Given the description of an element on the screen output the (x, y) to click on. 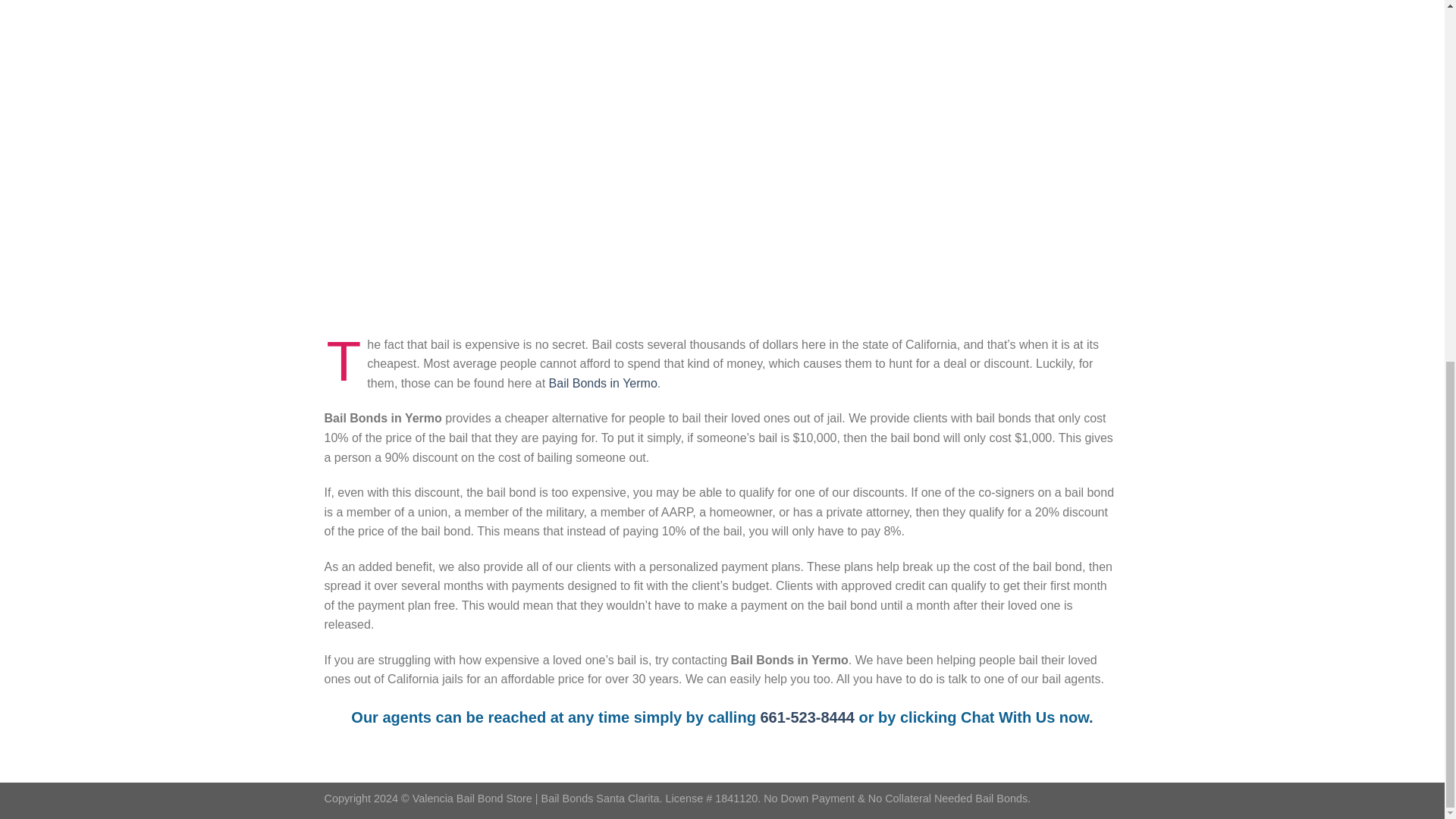
661-523-8444 (807, 717)
Bail Bonds in Yermo (603, 382)
Bail Bonds in Yermo (603, 382)
Bail Bonds in Yermo (807, 717)
